Given the description of an element on the screen output the (x, y) to click on. 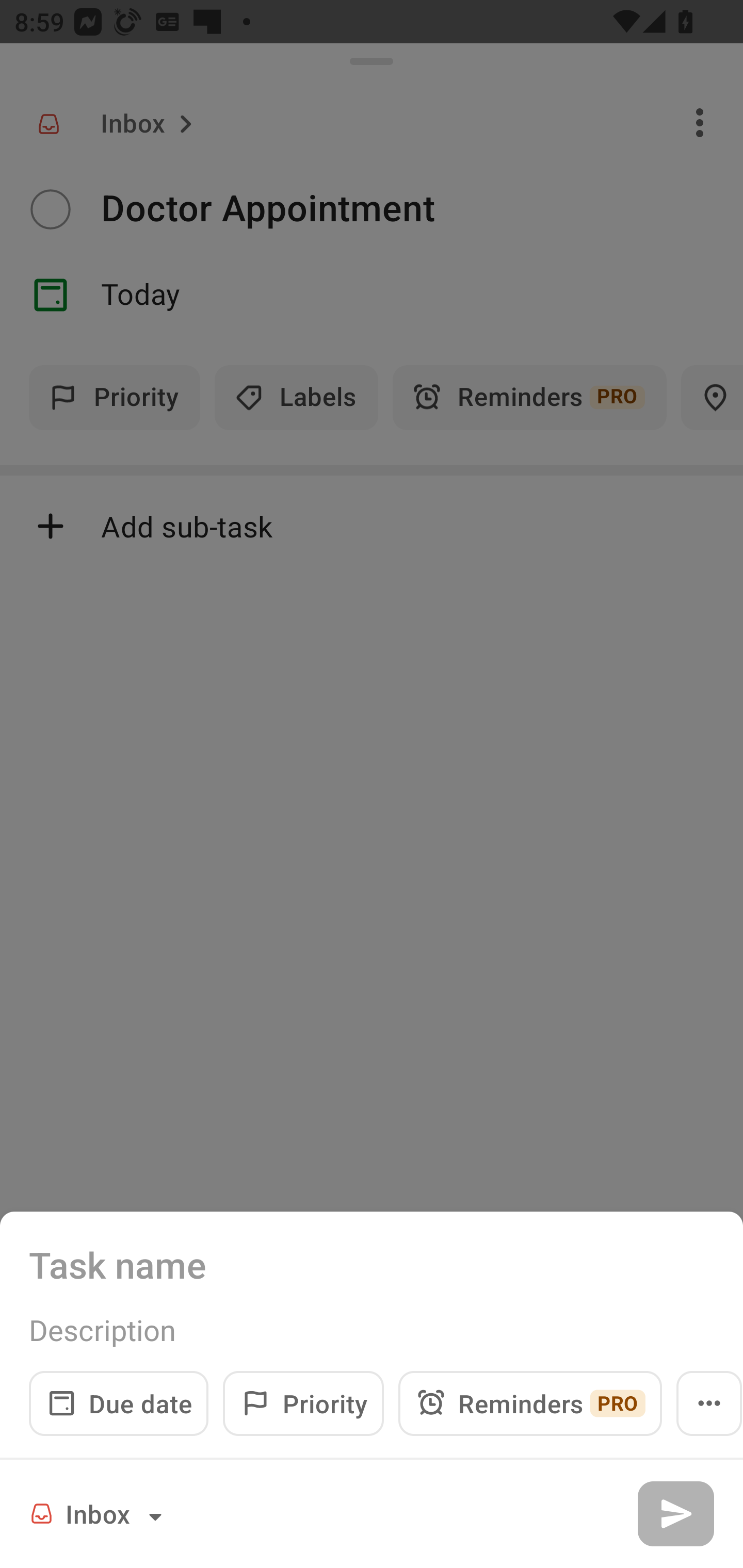
Task name (371, 1264)
Description (371, 1330)
Due date Date (118, 1403)
Priority (303, 1403)
Reminders PRO Reminders (530, 1403)
Open menu (709, 1403)
Inbox Project (99, 1513)
Add (675, 1513)
